Given the description of an element on the screen output the (x, y) to click on. 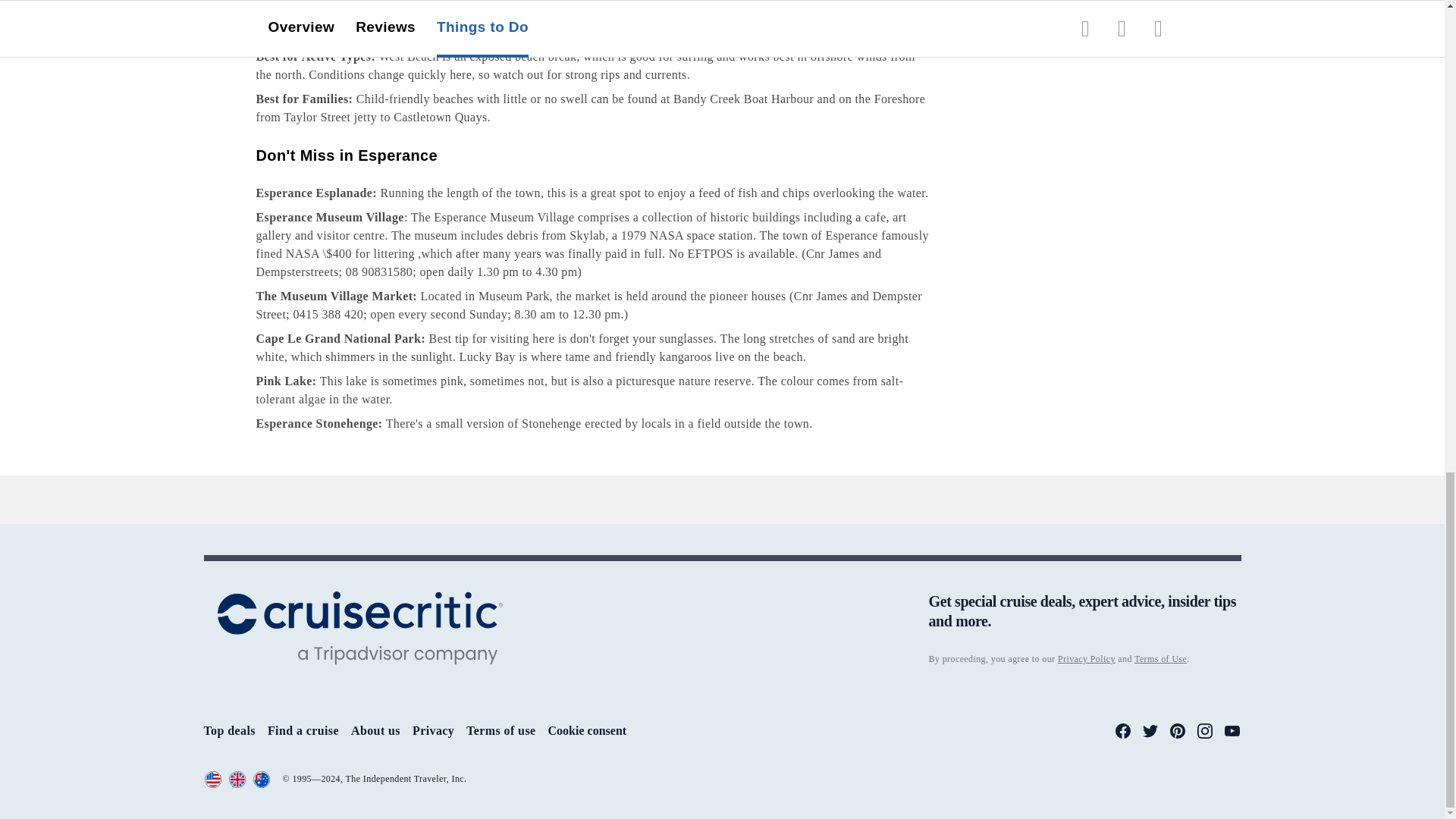
About us (375, 730)
Terms of use (500, 730)
Top deals (228, 730)
Privacy Policy (1086, 658)
Cookie consent (587, 730)
Find a cruise (303, 730)
Privacy (433, 730)
Terms of Use (1160, 658)
